Given the description of an element on the screen output the (x, y) to click on. 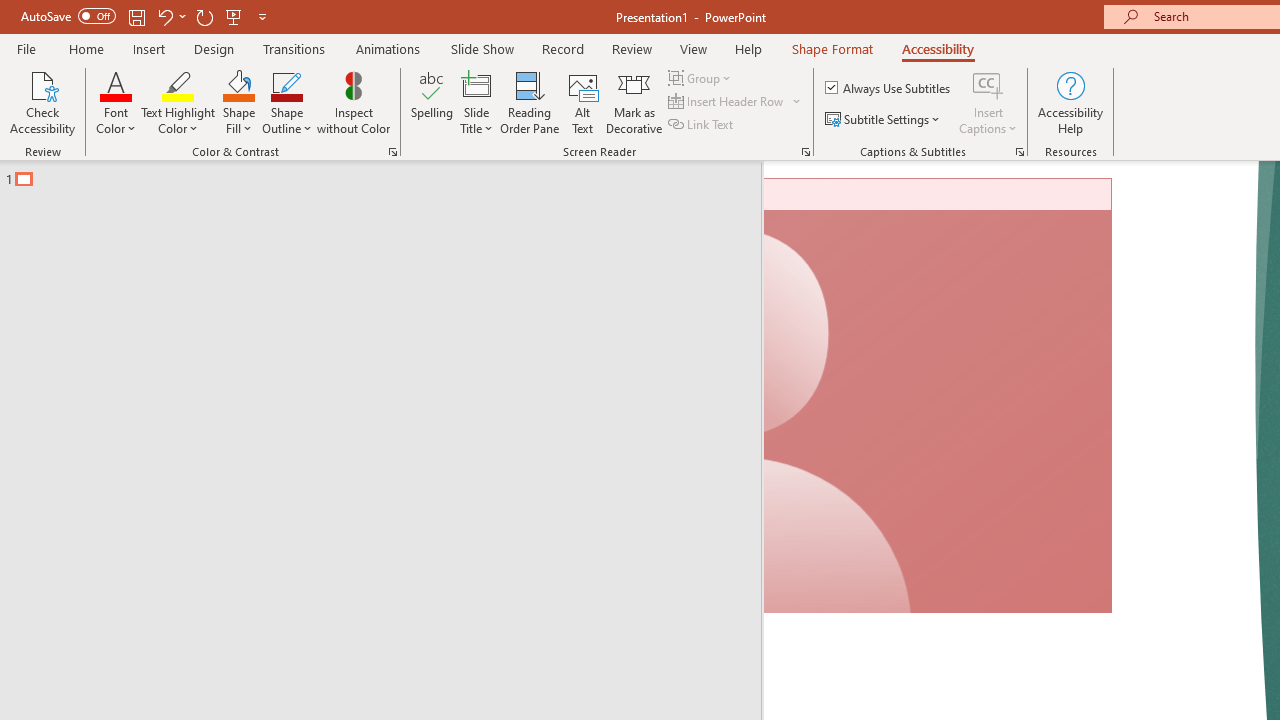
Subtitle Settings (884, 119)
Group (701, 78)
Reading Order Pane (529, 102)
Text Highlight Color Yellow (178, 84)
